Given the description of an element on the screen output the (x, y) to click on. 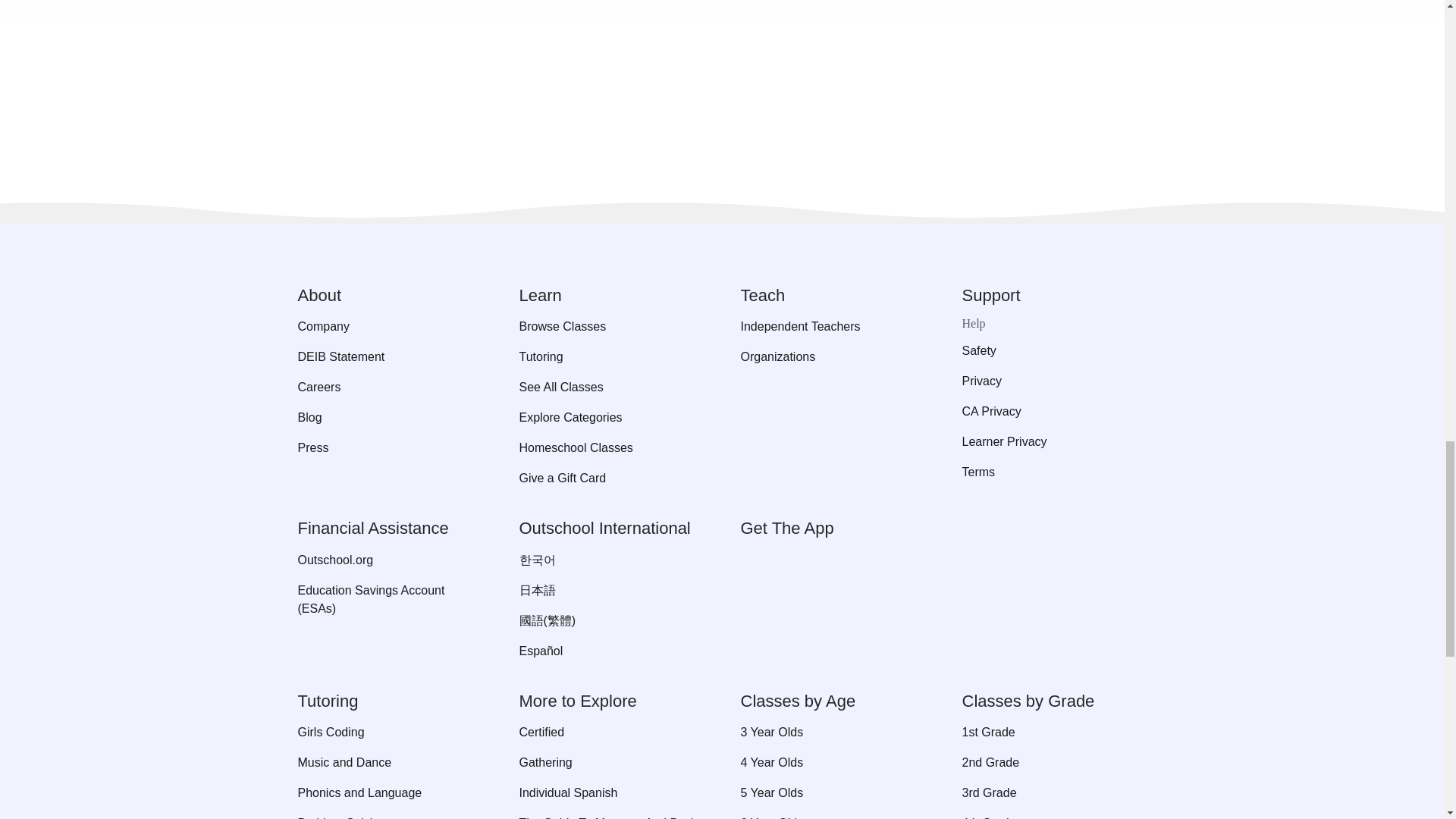
Blog (389, 417)
Browse Classes (610, 326)
Help (1053, 323)
Organizations (831, 357)
See All Classes (610, 387)
Give a Gift Card (610, 478)
DEIB Statement (389, 357)
Press (389, 447)
Tutoring (610, 357)
Safety (1053, 351)
Company (389, 326)
Careers (389, 387)
Independent Teachers (831, 326)
Explore Categories (610, 417)
Homeschool Classes (610, 447)
